Given the description of an element on the screen output the (x, y) to click on. 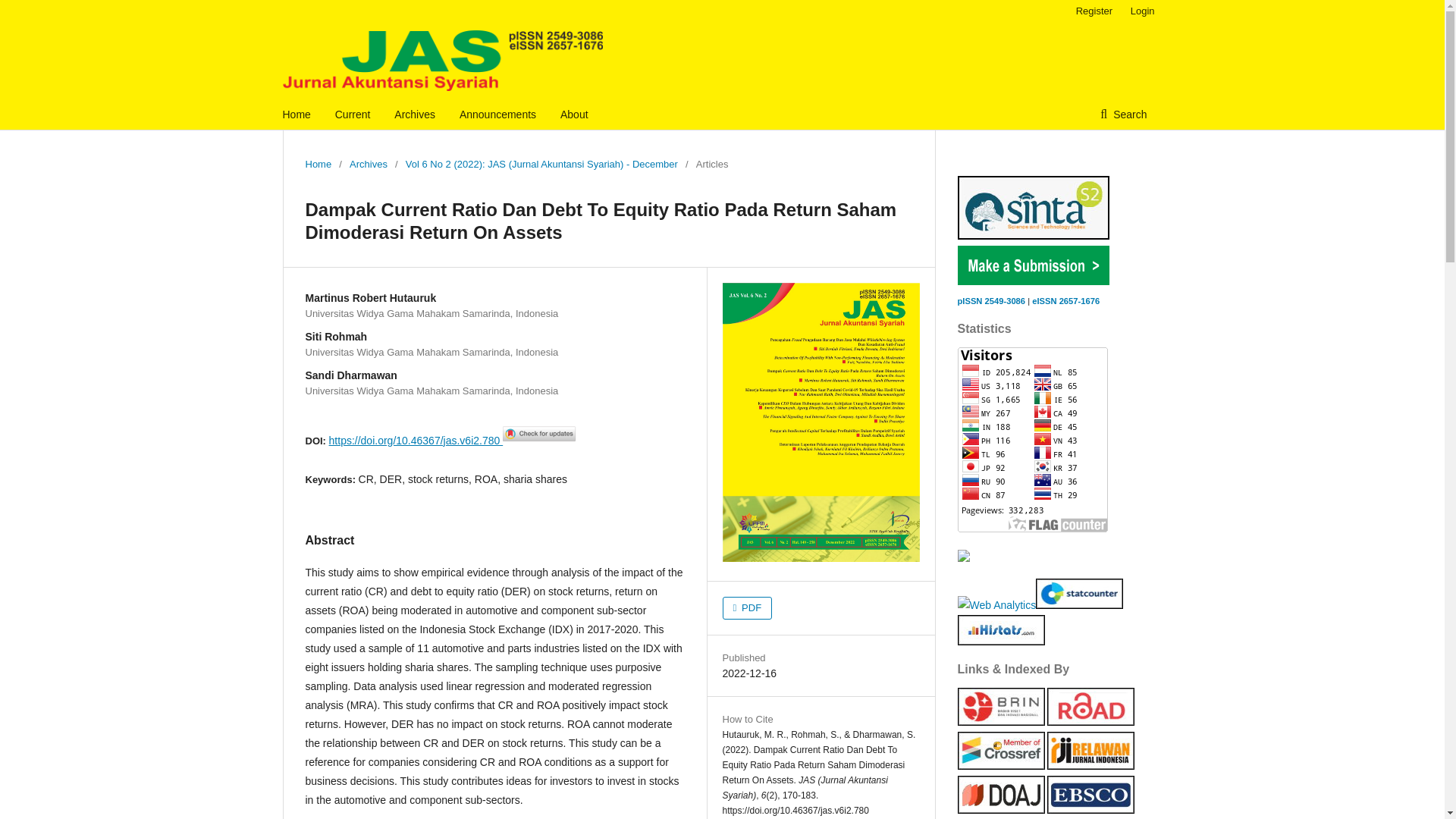
Visit tracker (962, 558)
Relawan Jurnal Indonesia (1090, 766)
Cek ISSN BRIN (990, 300)
Cek ISSN BRIN (999, 721)
Indexing - EBSCO (1090, 809)
Current (352, 114)
Archives (414, 114)
Cek ISSN BRIN (1065, 300)
Indexing - DOAJ (999, 809)
Home (317, 164)
Histats (999, 641)
Statcounter (1078, 604)
Register (1093, 11)
About (574, 114)
Indexing - Road - ISSN (1090, 721)
